Given the description of an element on the screen output the (x, y) to click on. 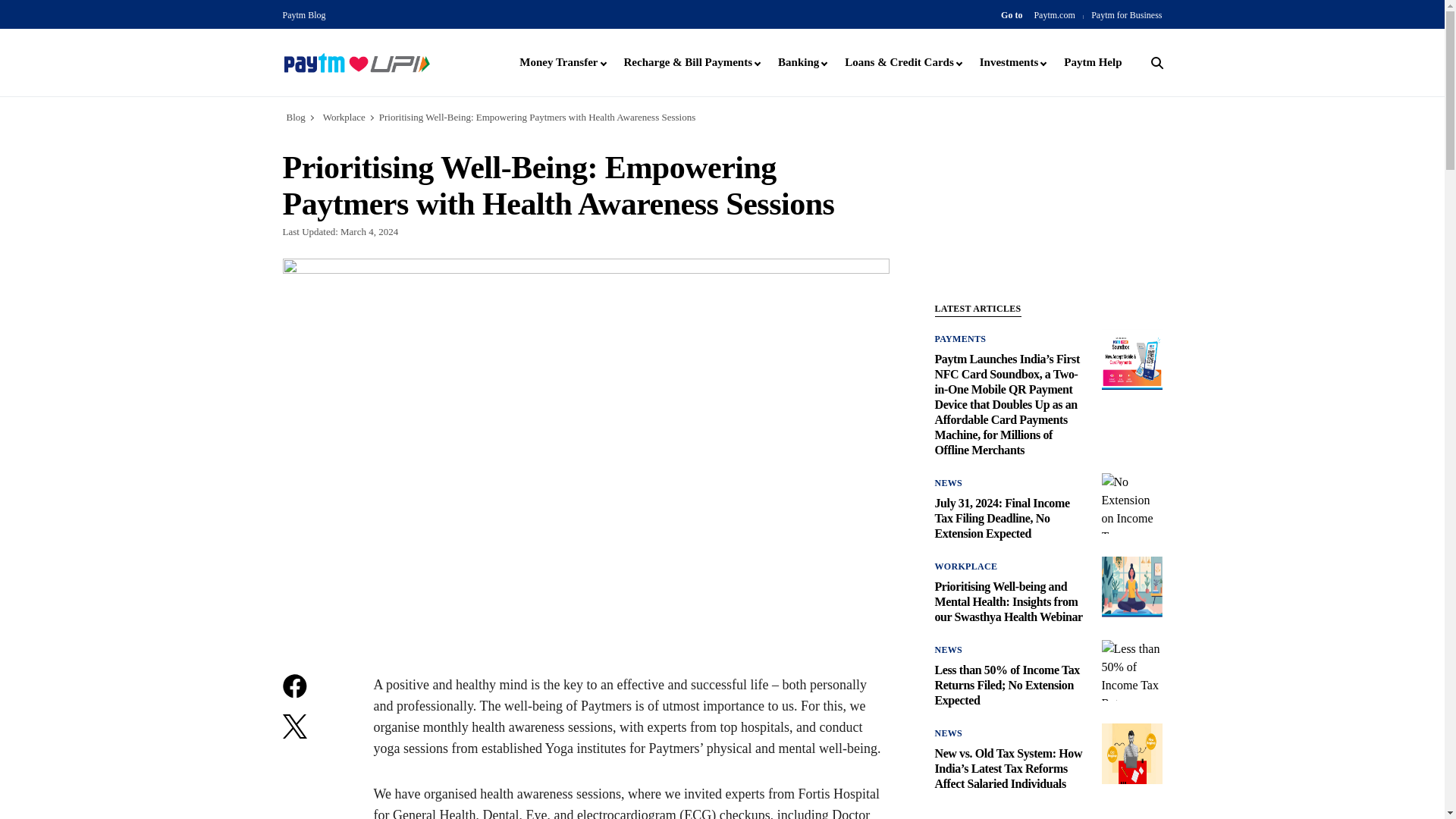
Paytm.com (1053, 14)
Paytm Blog (303, 14)
Paytm for Business (1125, 14)
